Given the description of an element on the screen output the (x, y) to click on. 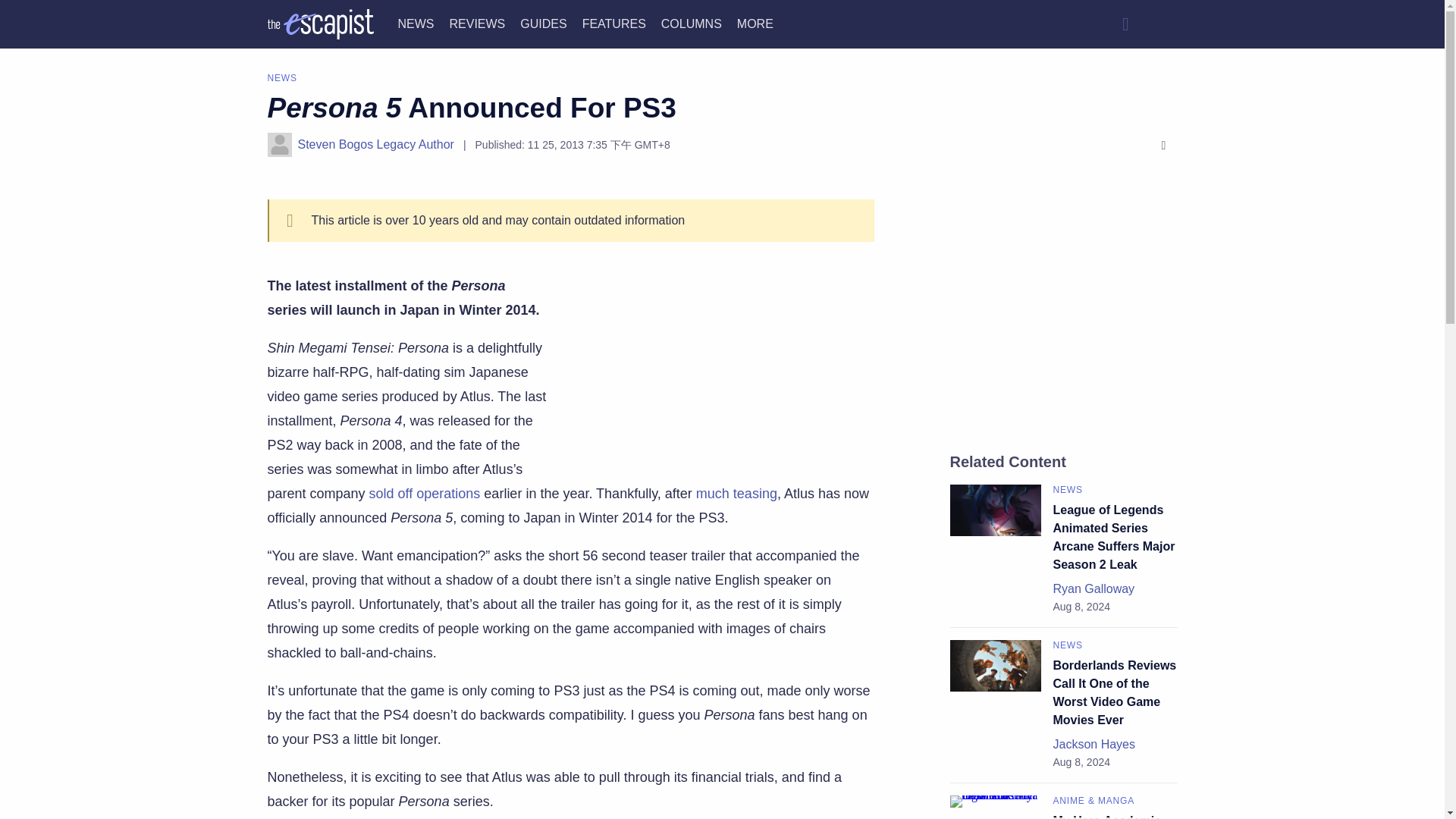
NEWS (415, 23)
Search (1124, 24)
FEATURES (614, 23)
Dark Mode (1161, 24)
REVIEWS (476, 23)
GUIDES (542, 23)
COLUMNS (691, 23)
